Given the description of an element on the screen output the (x, y) to click on. 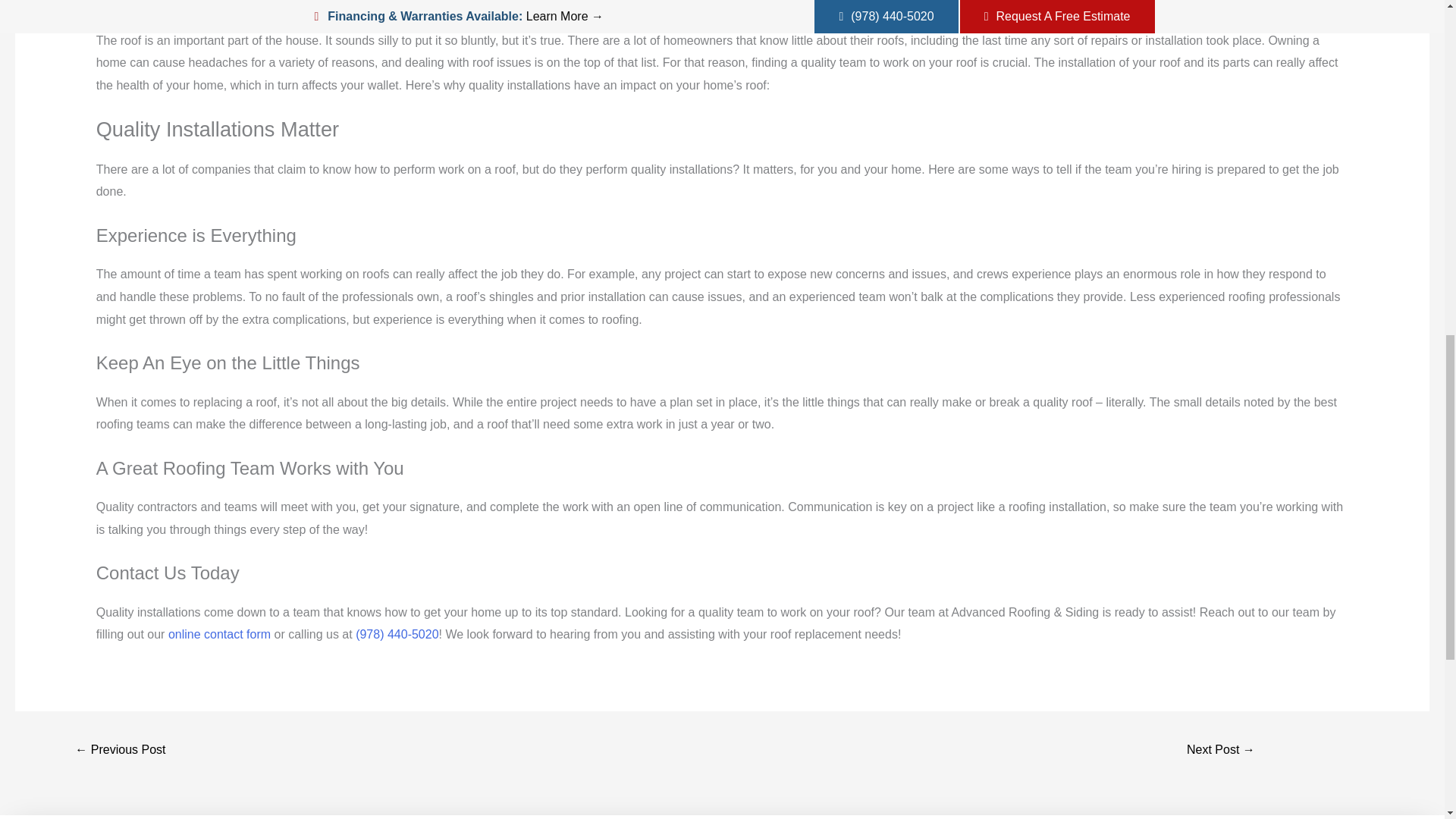
View all posts by admin (188, 1)
Common Mistakes Inexperienced Roofers Make (119, 750)
